Given the description of an element on the screen output the (x, y) to click on. 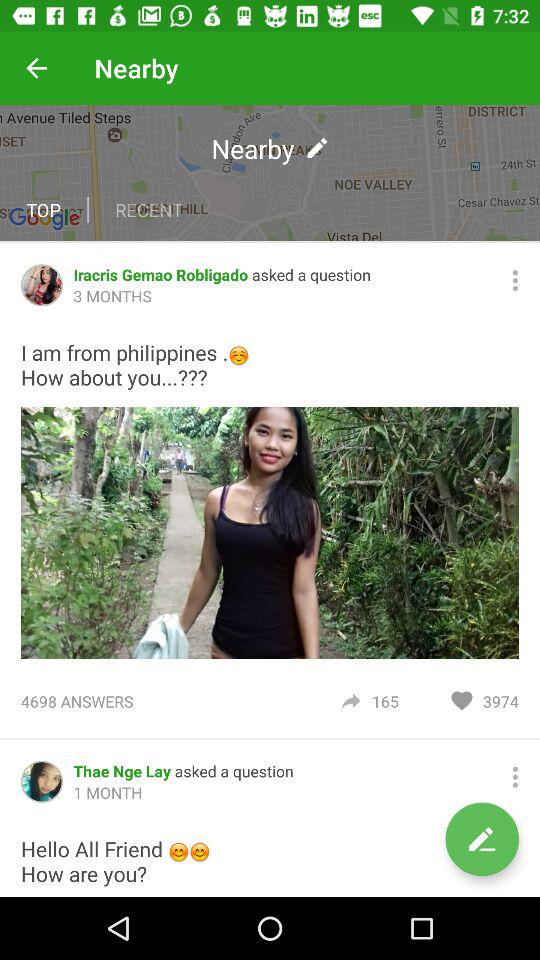
more settings button (515, 280)
